Given the description of an element on the screen output the (x, y) to click on. 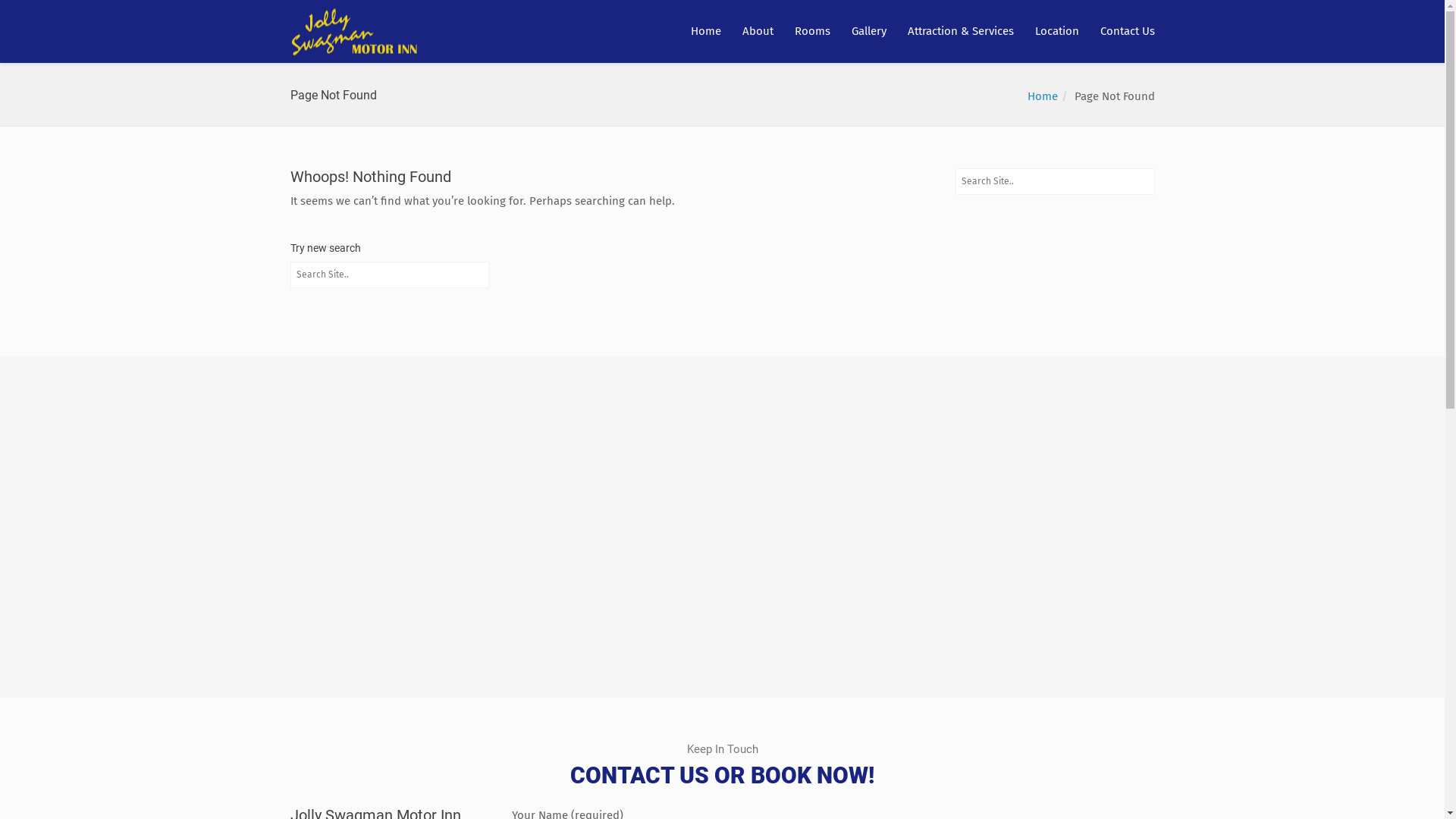
Home Element type: text (1041, 96)
Contact Us Element type: text (1121, 31)
About Element type: text (757, 31)
Rooms Element type: text (812, 31)
Location Element type: text (1055, 31)
Attraction & Services Element type: text (959, 31)
Home Element type: text (705, 31)
Gallery Element type: text (868, 31)
